Given the description of an element on the screen output the (x, y) to click on. 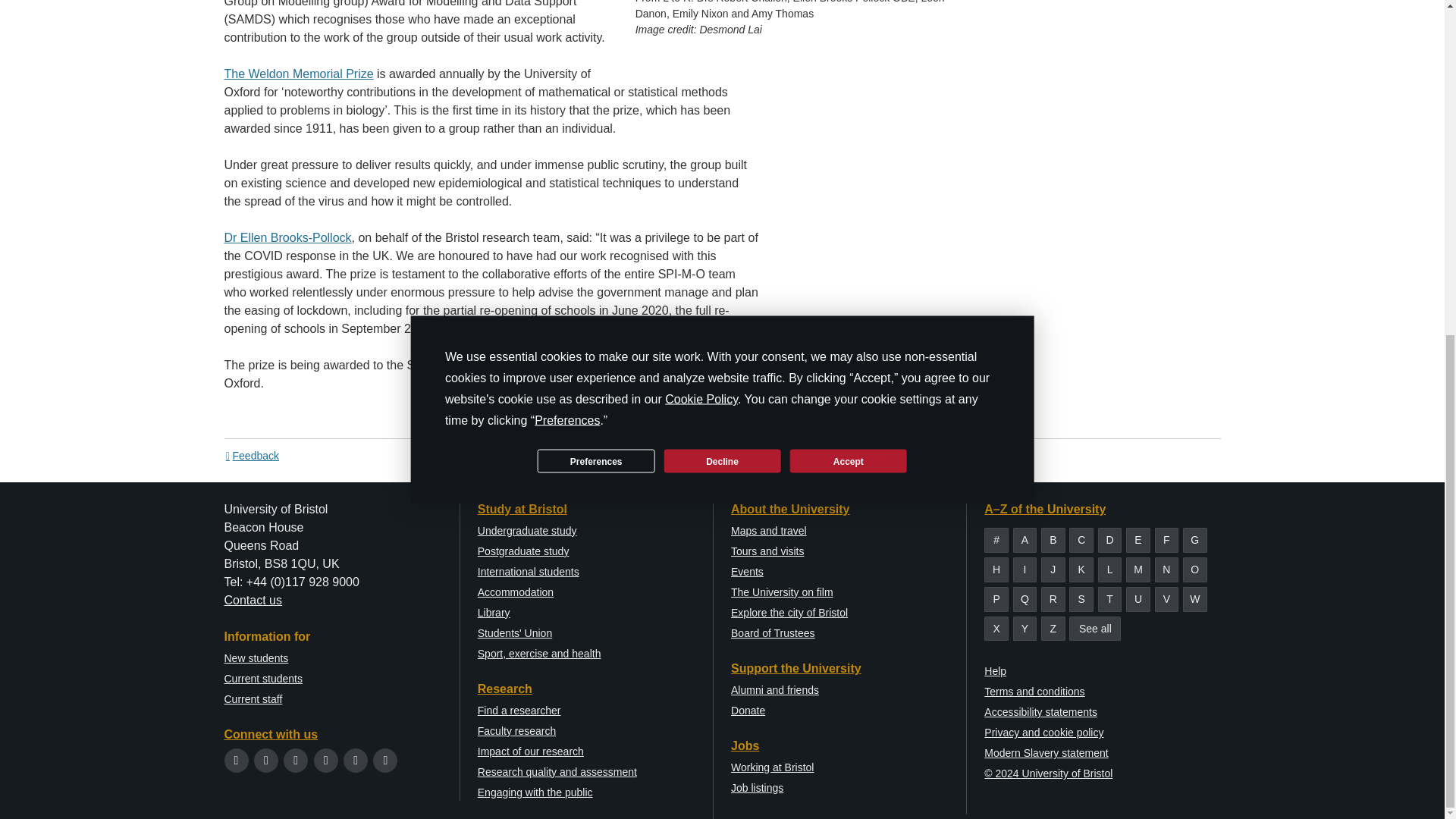
Facebook (265, 760)
Twitter (236, 760)
YouTube (325, 760)
LinkedIn (355, 760)
The Weldon Memorial Prize (299, 73)
Flickr (384, 760)
Dr Ellen Brooks-Pollock (288, 237)
Instagram (295, 760)
